Given the description of an element on the screen output the (x, y) to click on. 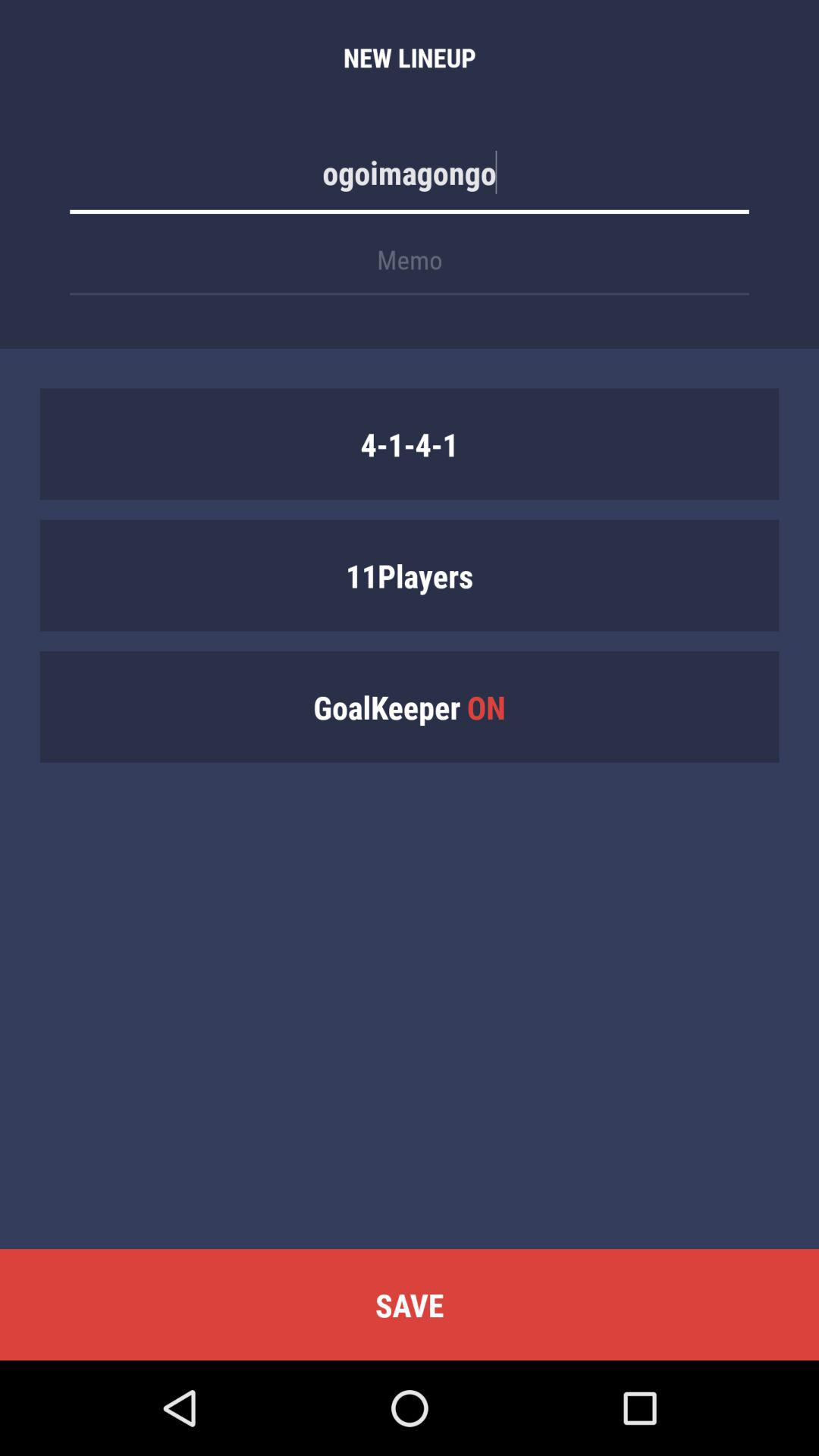
choose the item above goalkeeper item (409, 575)
